Given the description of an element on the screen output the (x, y) to click on. 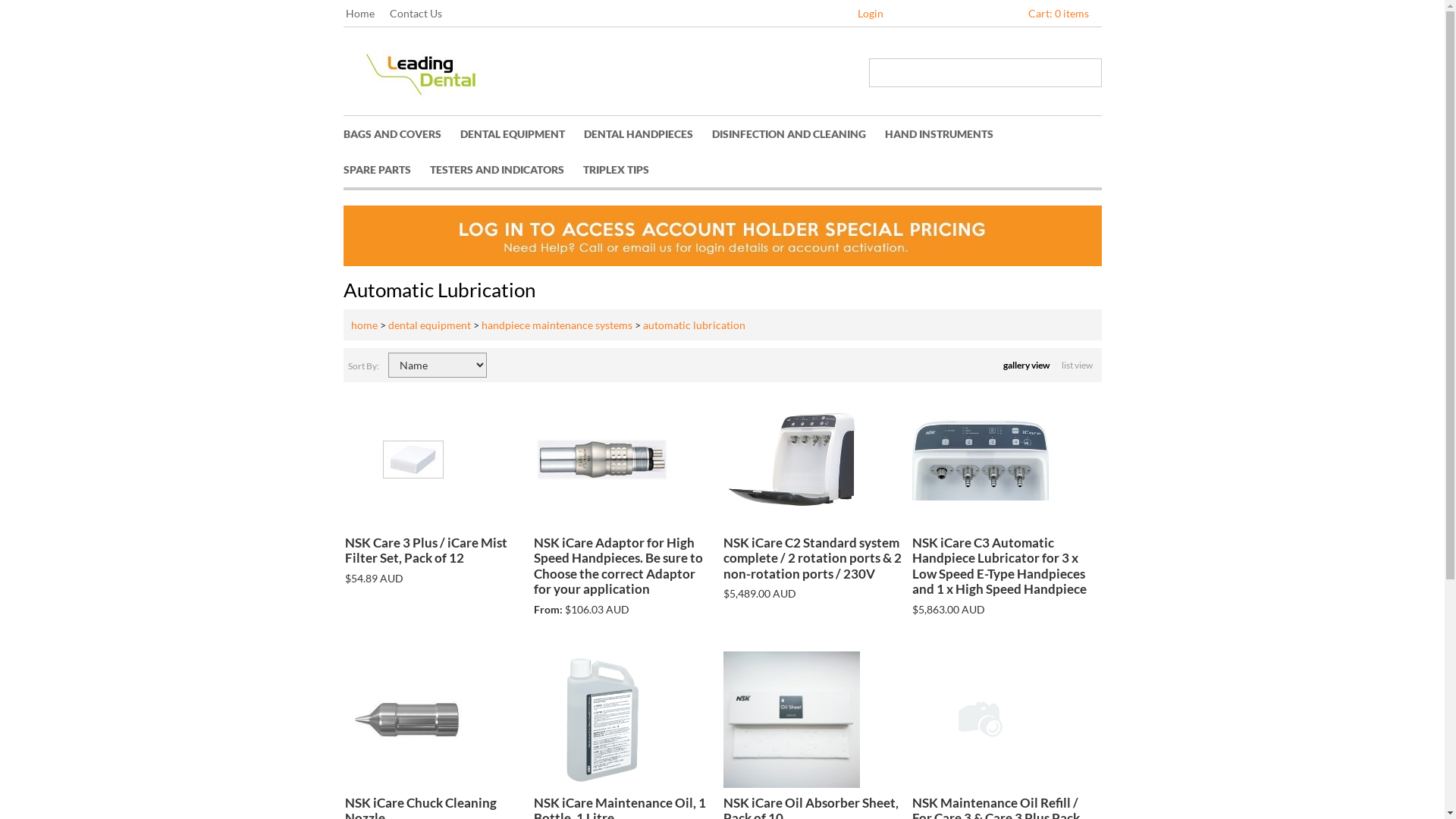
BAGS AND COVERS Element type: text (400, 133)
Contact Us Element type: text (423, 12)
handpiece maintenance systems Element type: text (555, 324)
SPARE PARTS Element type: text (385, 169)
Login Element type: text (870, 12)
home Element type: text (363, 324)
dental equipment Element type: text (429, 324)
automatic lubrication Element type: text (694, 324)
Search Products... Element type: hover (977, 72)
TRIPLEX TIPS Element type: text (624, 169)
TESTERS AND INDICATORS Element type: text (505, 169)
Home Element type: text (367, 12)
gallery view Element type: text (1026, 364)
DISINFECTION AND CLEANING Element type: text (797, 133)
DENTAL HANDPIECES Element type: text (647, 133)
HAND INSTRUMENTS Element type: text (947, 133)
NSK Care 3 Plus / iCare Mist Filter Set, Pack of 12 Element type: text (434, 559)
list view Element type: text (1077, 364)
Cart: 0 items Element type: text (1058, 12)
DENTAL EQUIPMENT Element type: text (521, 133)
